Given the description of an element on the screen output the (x, y) to click on. 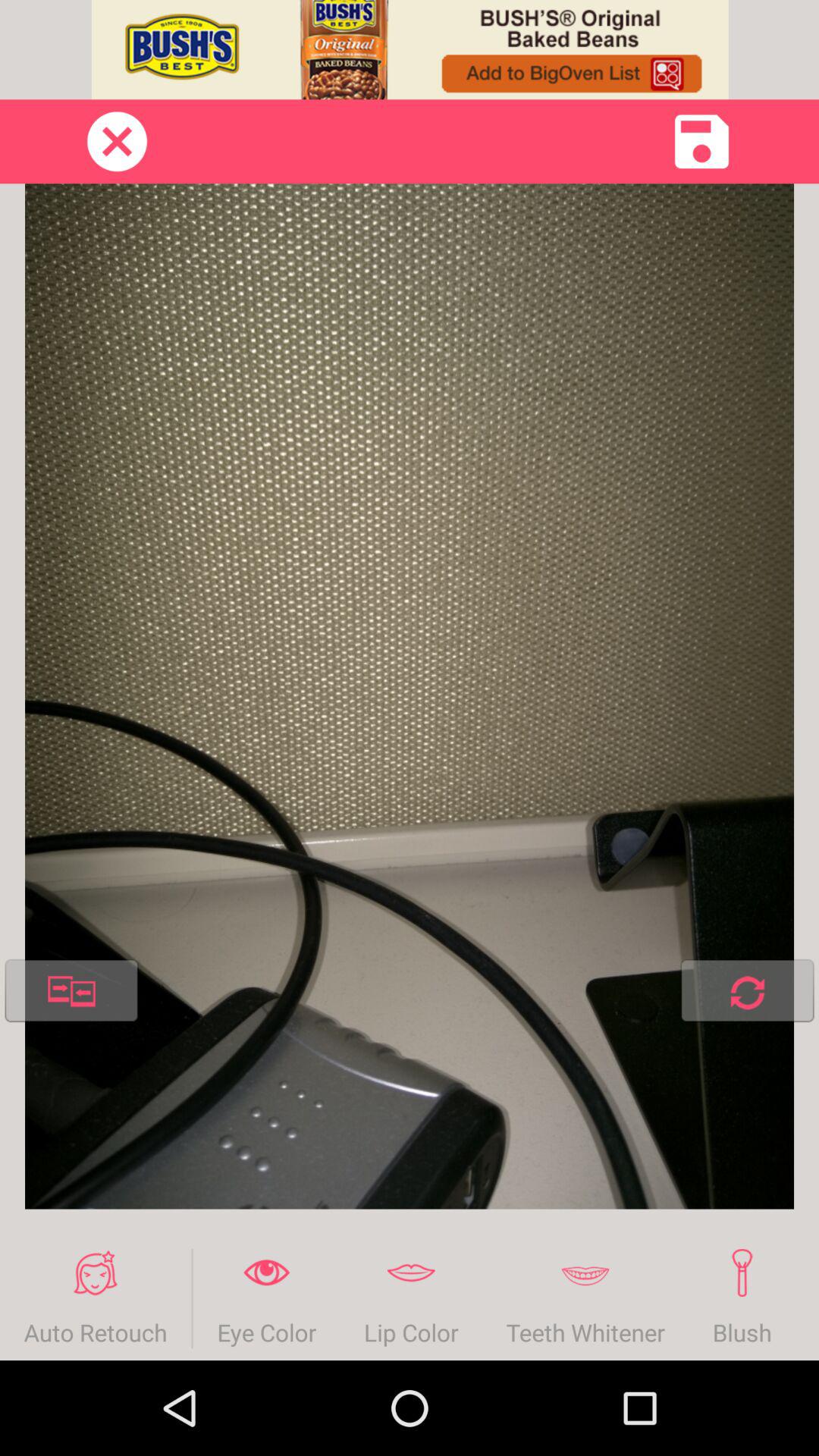
turn off item to the right of the teeth whitener icon (741, 1298)
